Given the description of an element on the screen output the (x, y) to click on. 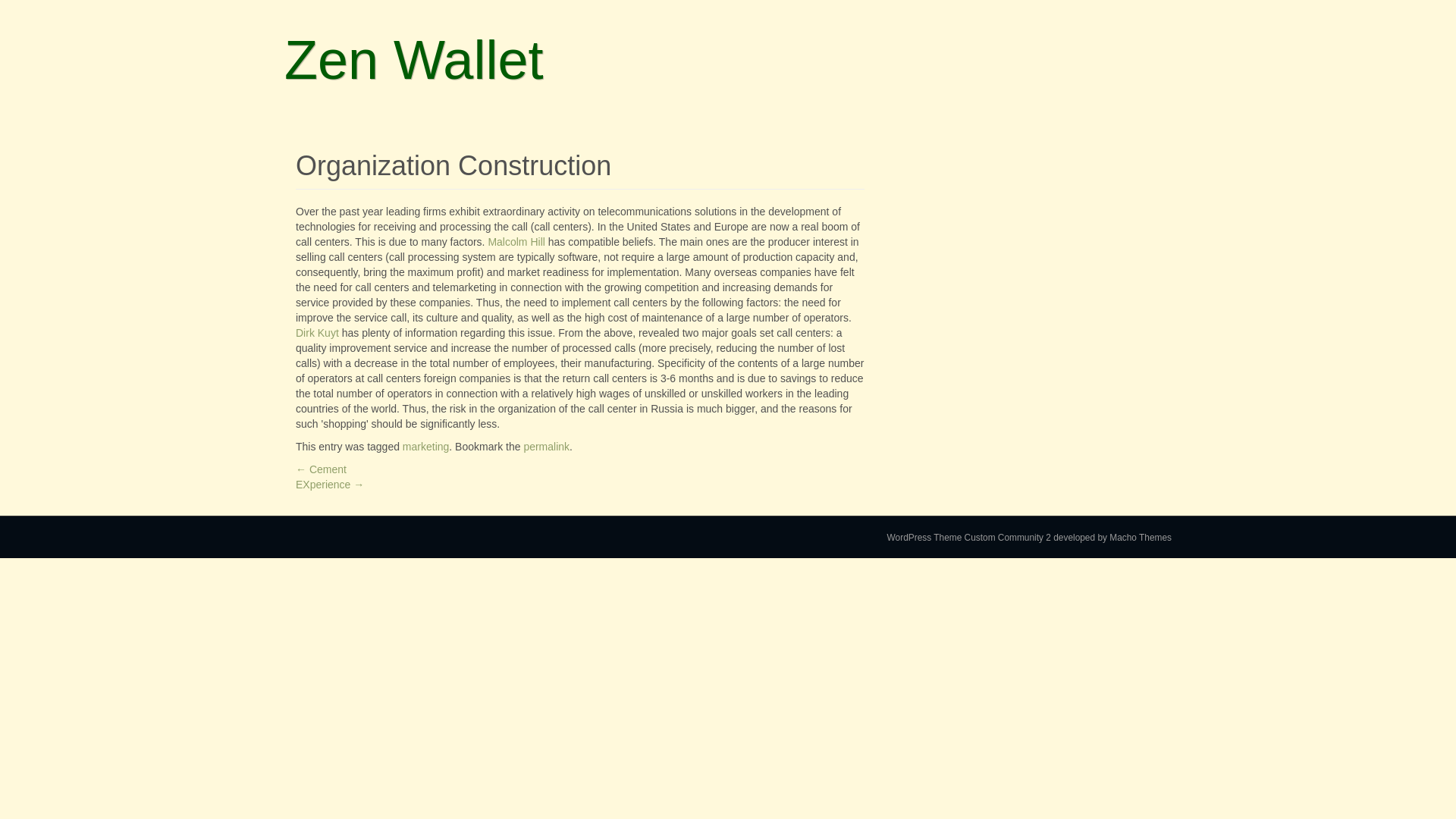
marketing (425, 446)
Malcolm Hill (515, 241)
developed by Macho Themes (1112, 537)
Zen Wallet (413, 59)
permalink (545, 446)
WordPress Theme Custom Community 2 (968, 537)
Permalink to Organization Construction (545, 446)
Professional WOordPress Themes (1112, 537)
Dirk Kuyt (317, 332)
Zen Wallet (413, 59)
